Given the description of an element on the screen output the (x, y) to click on. 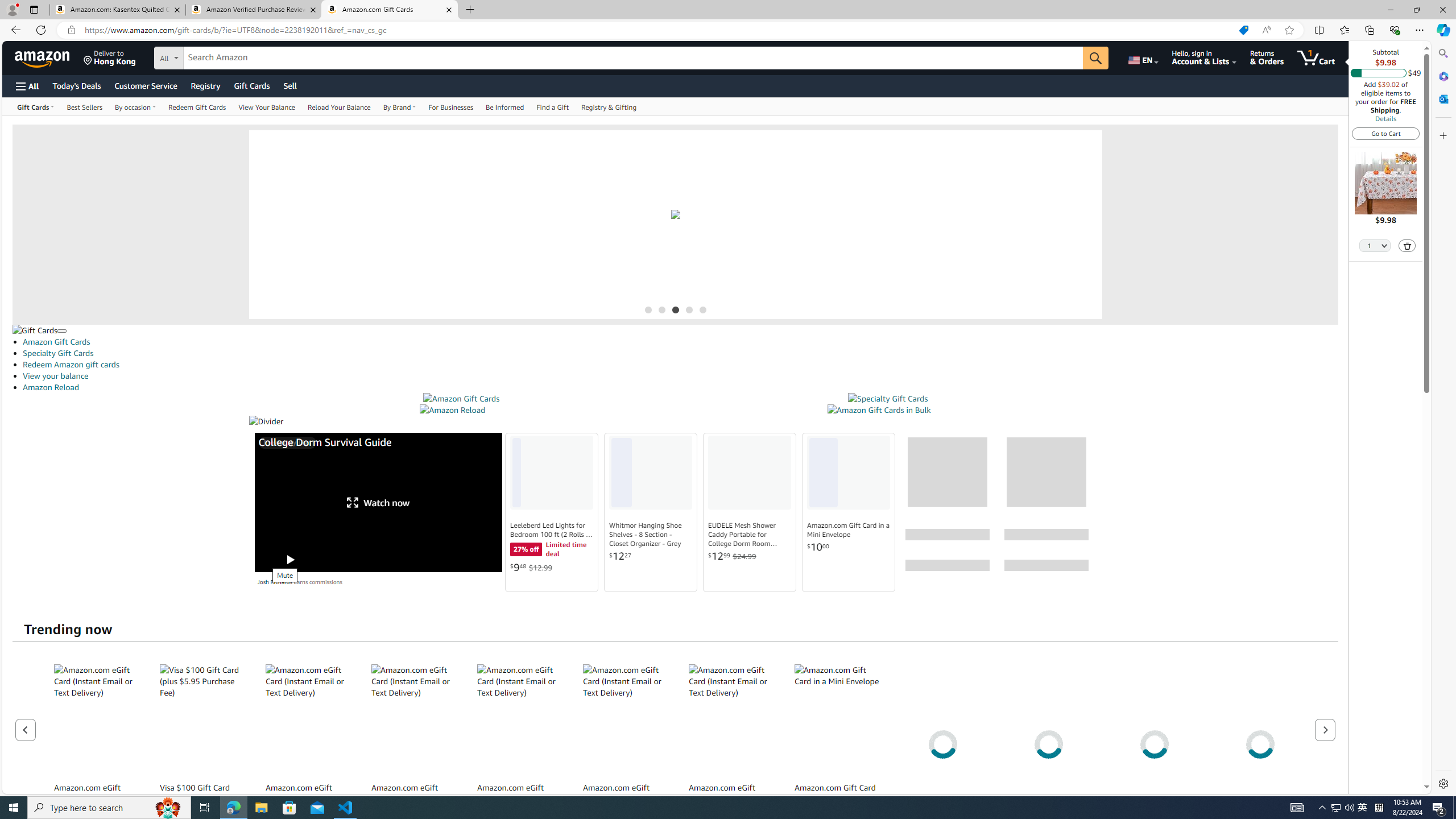
Skip to main content (48, 56)
Amazon.com eGift Card (Instant Email or Text Delivery) (731, 720)
Details (1385, 118)
Amazon (43, 57)
Registry (205, 85)
Visa $100 Gift Card (plus $5.95 Purchase Fee) (202, 720)
1 item in cart (1315, 57)
Be Informed (504, 106)
Redeem Gift Cards (196, 106)
